Given the description of an element on the screen output the (x, y) to click on. 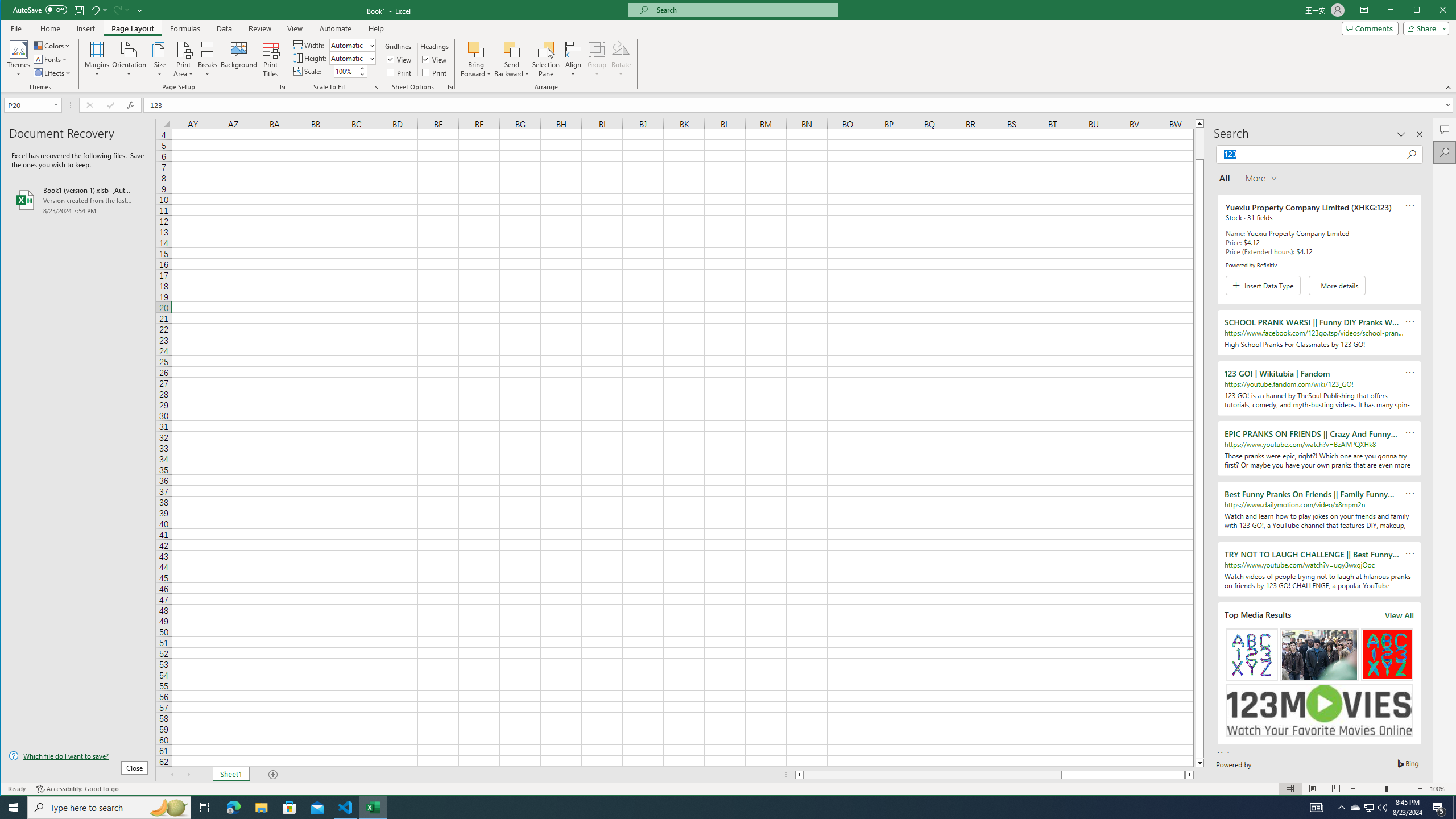
Task Pane Options (1400, 133)
Name Box (32, 105)
Scale (345, 71)
More (361, 68)
Breaks (207, 59)
Column left (798, 774)
Height (349, 58)
System (11, 10)
Minimize (1419, 11)
Quick Access Toolbar (79, 9)
Page up (1199, 142)
Action Center, 5 new notifications (1439, 807)
Page Layout (1312, 788)
Zoom Out (1372, 788)
